Given the description of an element on the screen output the (x, y) to click on. 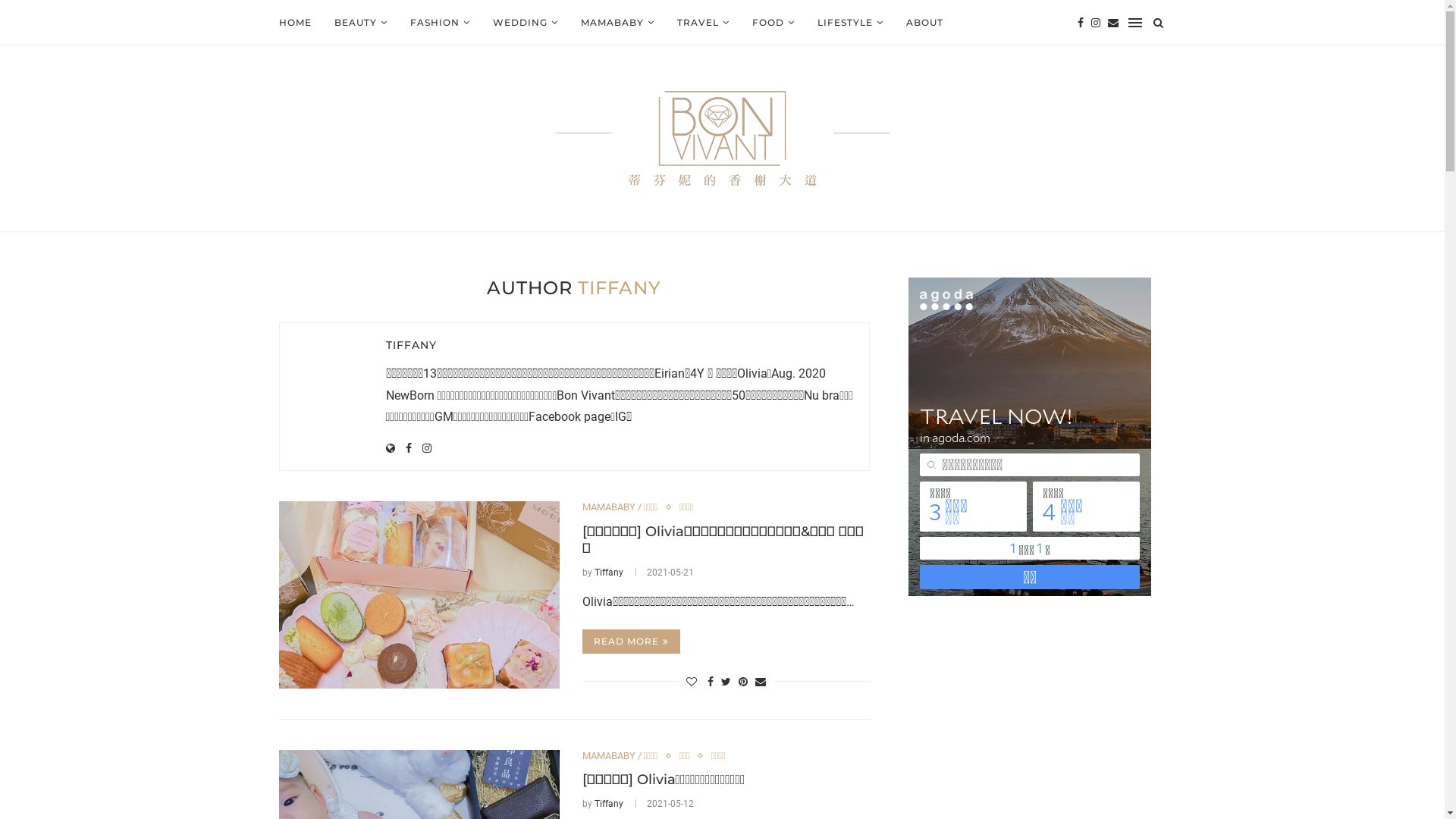
Tiffany Element type: text (608, 803)
BEAUTY Element type: text (359, 22)
FOOD Element type: text (773, 22)
MAMABABY Element type: text (617, 22)
Like Element type: hover (691, 681)
ABOUT Element type: text (923, 22)
LIFESTYLE Element type: text (850, 22)
READ MORE Element type: text (631, 641)
FASHION Element type: text (439, 22)
TIFFANY Element type: text (410, 344)
TRAVEL Element type: text (702, 22)
Tiffany Element type: text (608, 572)
HOME Element type: text (295, 22)
WEDDING Element type: text (525, 22)
